Given the description of an element on the screen output the (x, y) to click on. 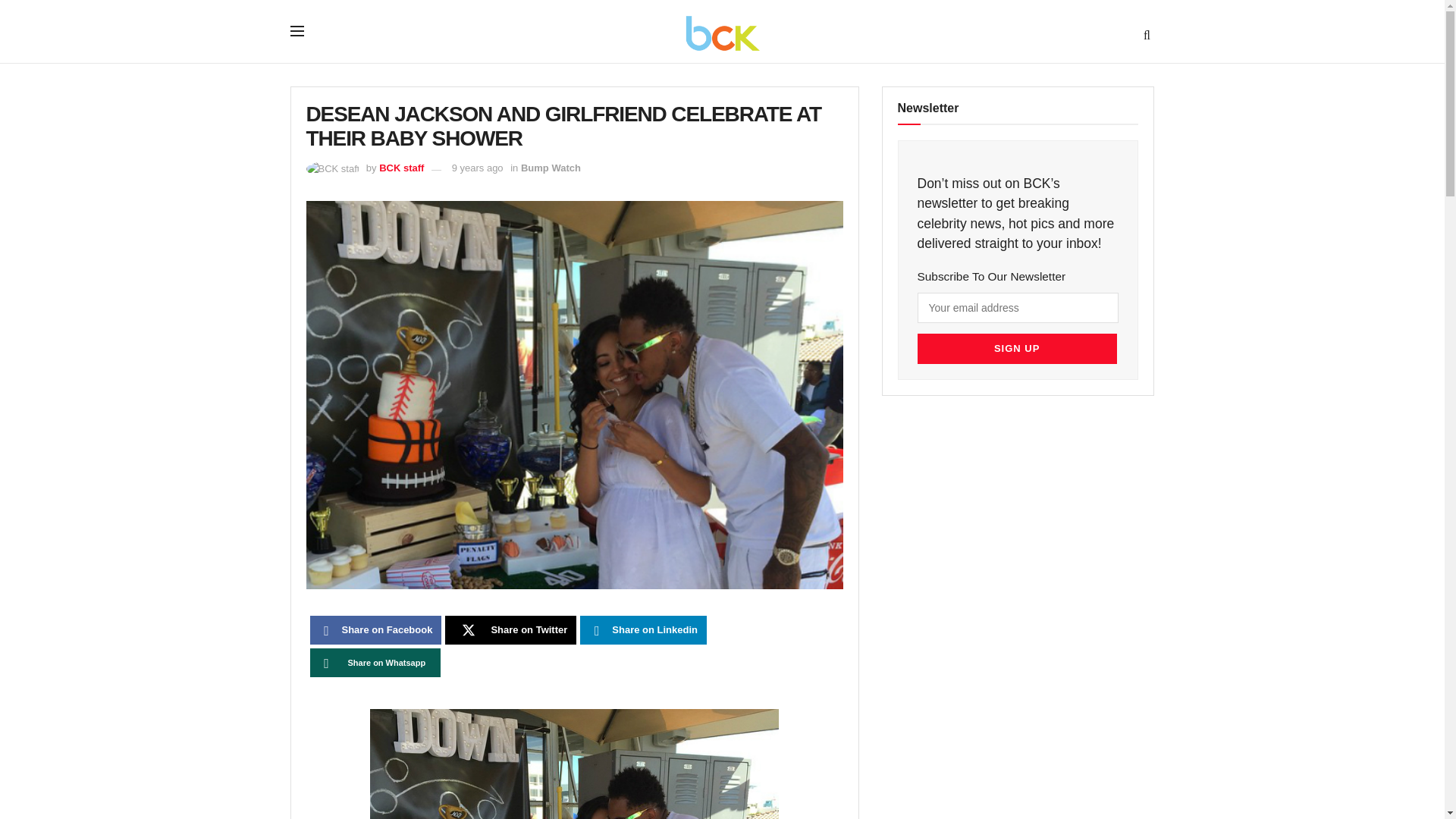
9 years ago (477, 167)
BCK staff (400, 167)
Share on Facebook (374, 629)
Share on Linkedin (642, 629)
Sign up (1016, 348)
Bump Watch (550, 167)
Share on Whatsapp (374, 662)
Share on Twitter (510, 629)
